Given the description of an element on the screen output the (x, y) to click on. 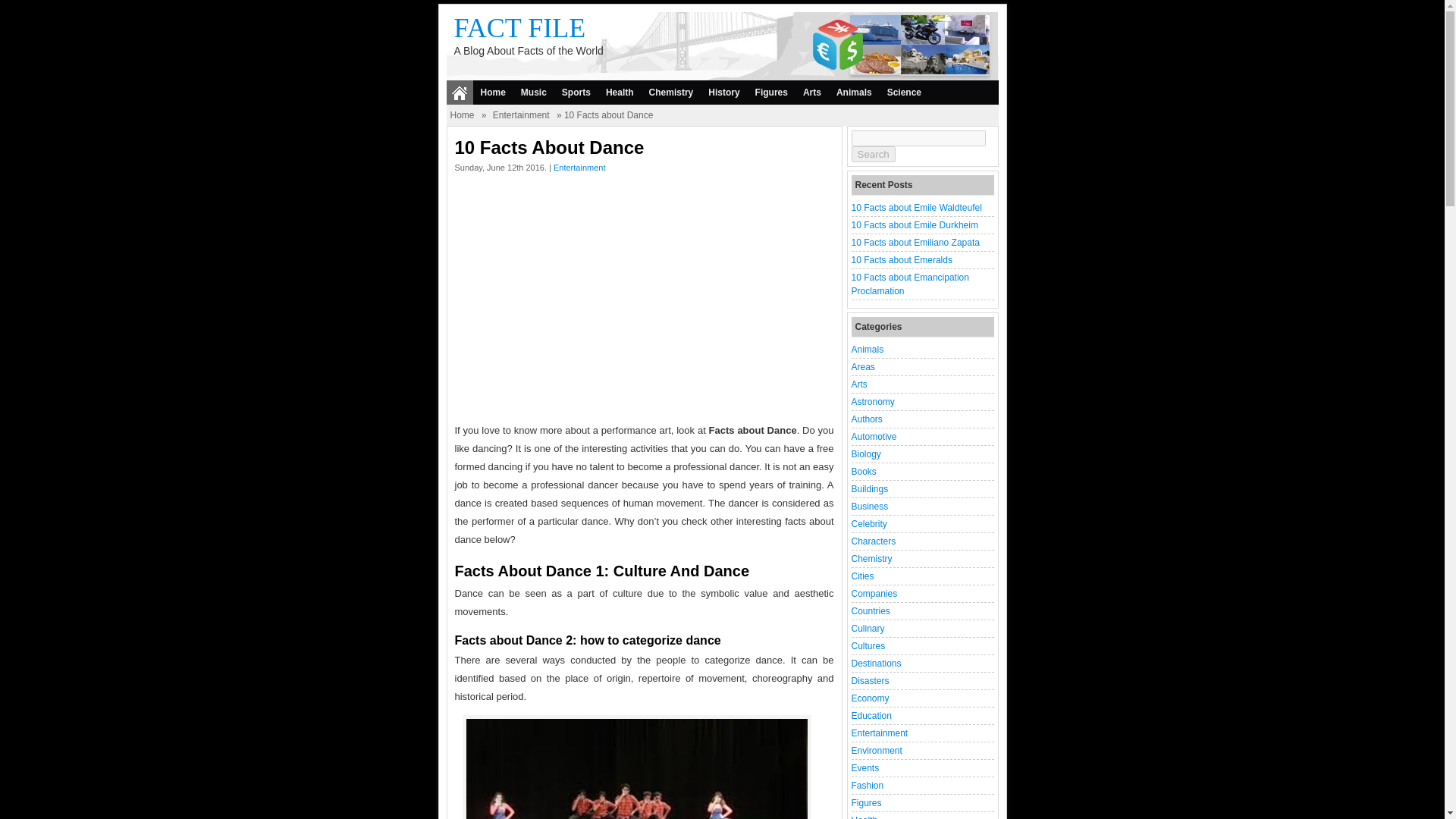
Authors (866, 419)
Biology (865, 453)
Science (903, 92)
FACT FILE (518, 28)
Entertainment (521, 114)
Chemistry (671, 92)
10 Facts about Emancipation Proclamation (909, 283)
Animals (866, 348)
10 Facts about Emile Durkheim (913, 225)
Health (620, 92)
